Given the description of an element on the screen output the (x, y) to click on. 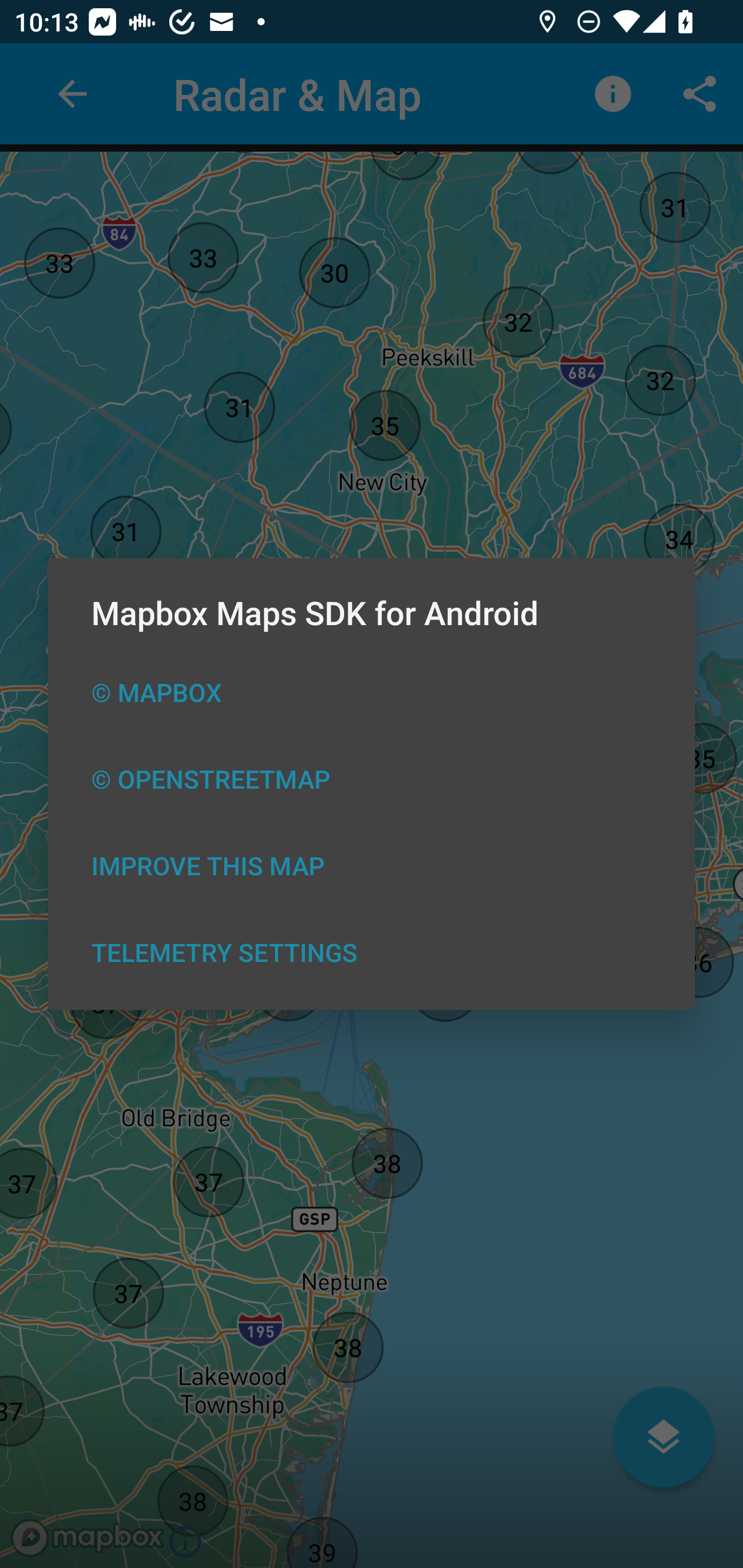
© MAPBOX (371, 692)
© OPENSTREETMAP (371, 778)
IMPROVE THIS MAP (371, 865)
TELEMETRY SETTINGS (371, 952)
